Given the description of an element on the screen output the (x, y) to click on. 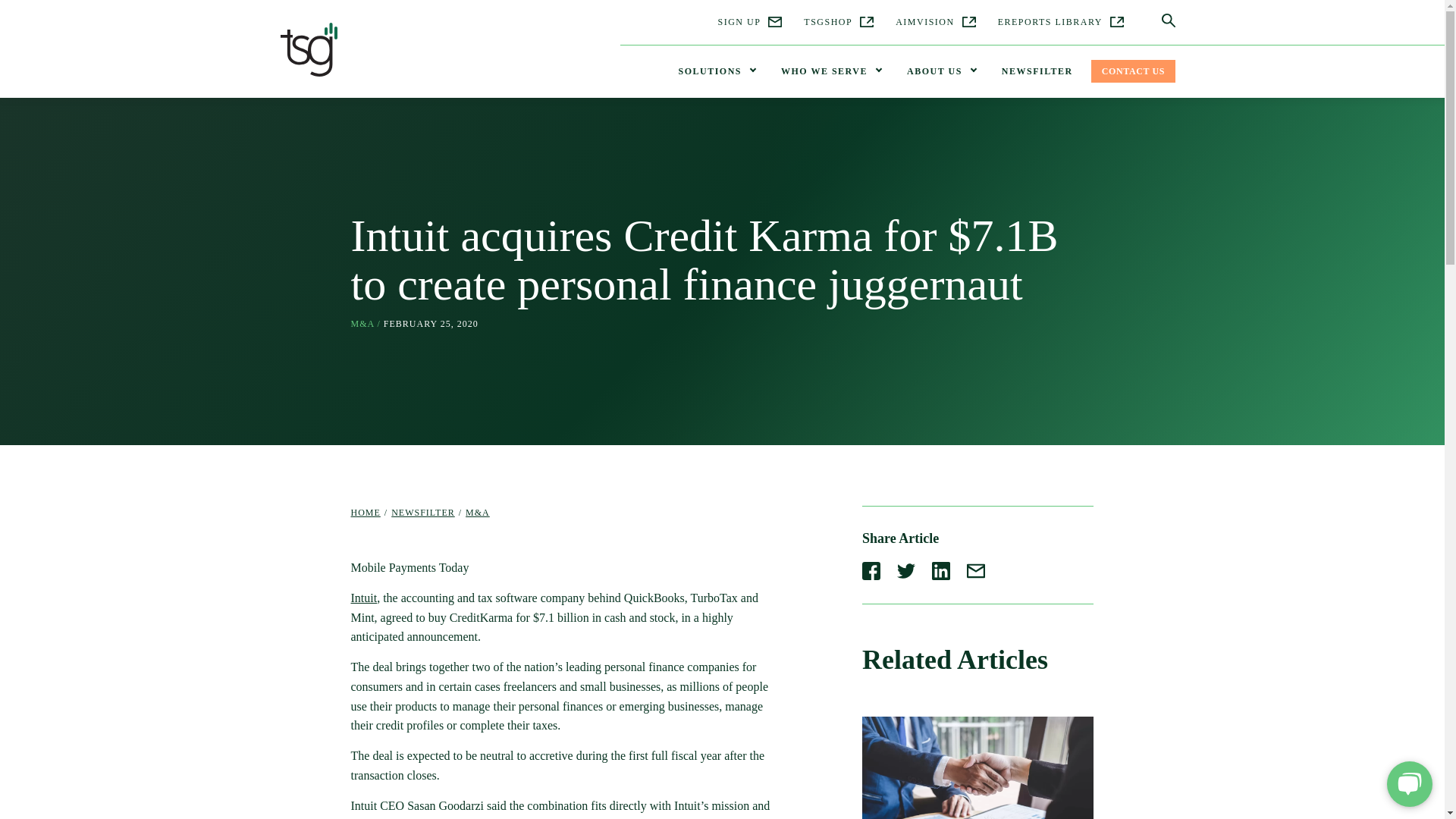
NEWSFILTER (1037, 70)
ABOUT US (941, 70)
EREPORTS LIBRARY (1060, 22)
AIMVISION (935, 22)
SIGN UP (749, 22)
TSG home (309, 52)
SOLUTIONS (715, 70)
Chat Widget (1406, 782)
TSGSHOP (838, 22)
CONTACT US (1132, 70)
